Given the description of an element on the screen output the (x, y) to click on. 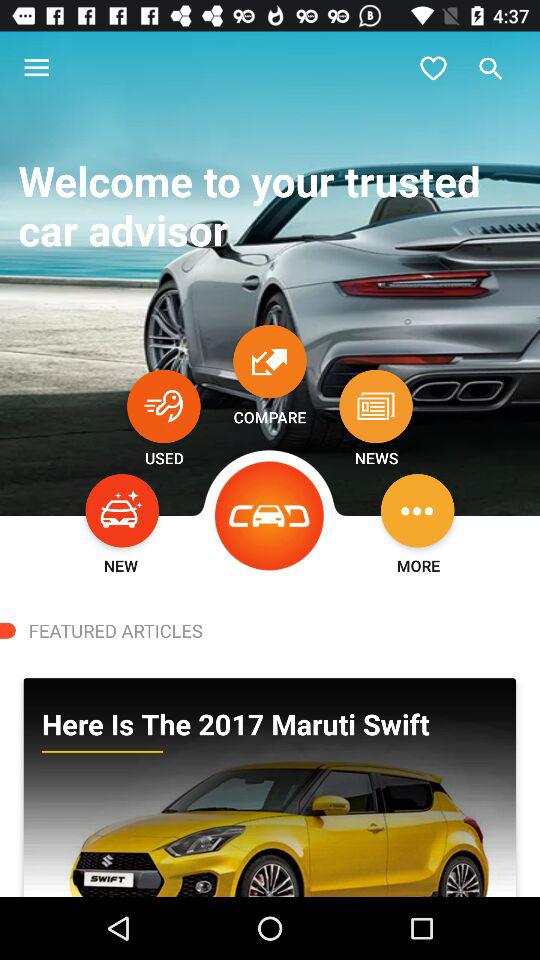
choose the icon below welcome to your item (163, 406)
